Given the description of an element on the screen output the (x, y) to click on. 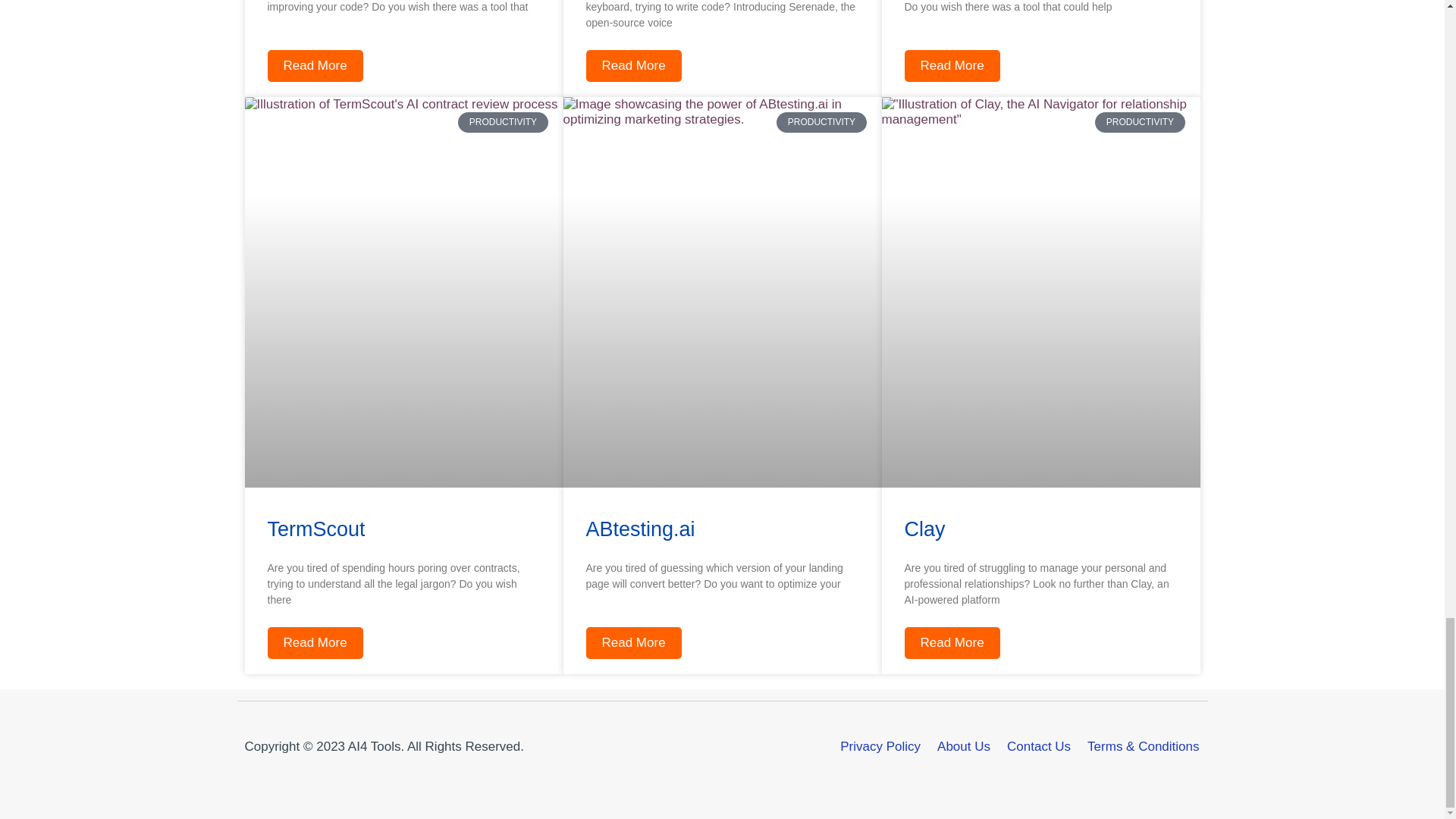
About Us (963, 746)
Contact Us (1038, 746)
Read More (314, 65)
Read More (314, 643)
Read More (951, 65)
TermScout (315, 528)
Read More (633, 643)
Privacy Policy (880, 746)
Read More (951, 643)
Read More (633, 65)
Clay (924, 528)
ABtesting.ai (639, 528)
